Given the description of an element on the screen output the (x, y) to click on. 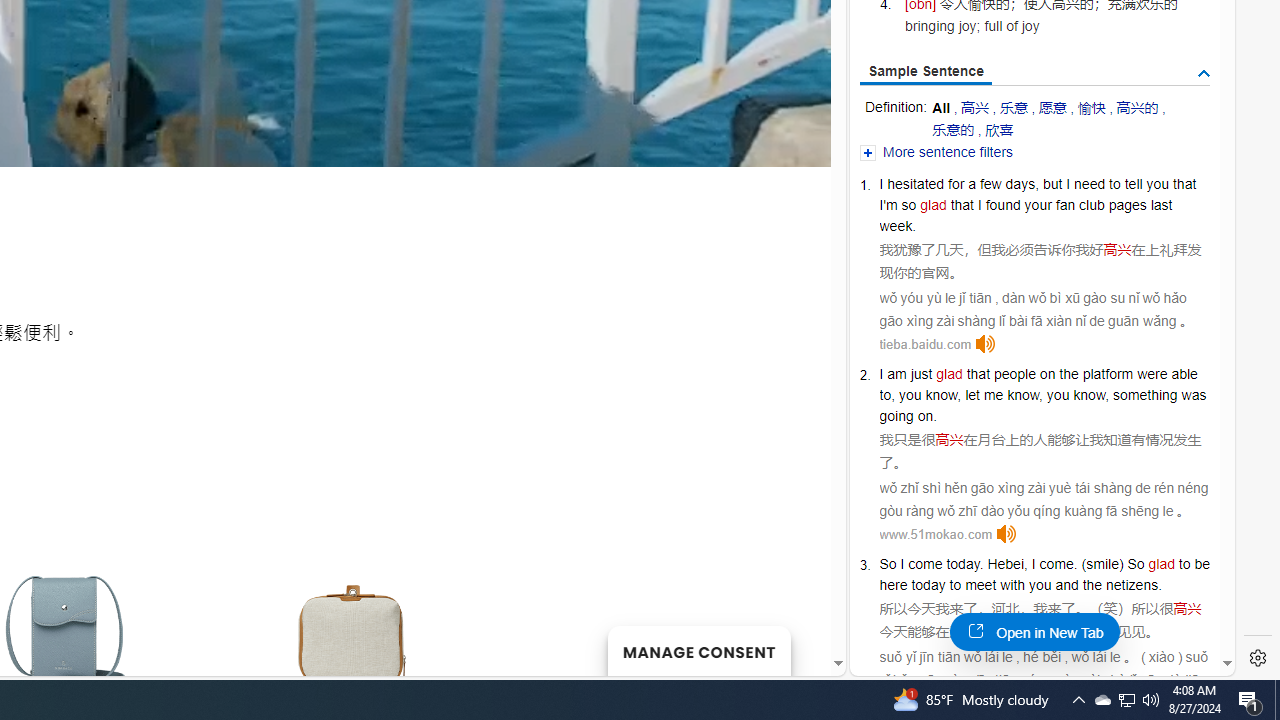
glad (1161, 563)
need (1089, 183)
the (1092, 584)
just (921, 373)
come (1056, 563)
smile (1101, 563)
last (1160, 205)
